Given the description of an element on the screen output the (x, y) to click on. 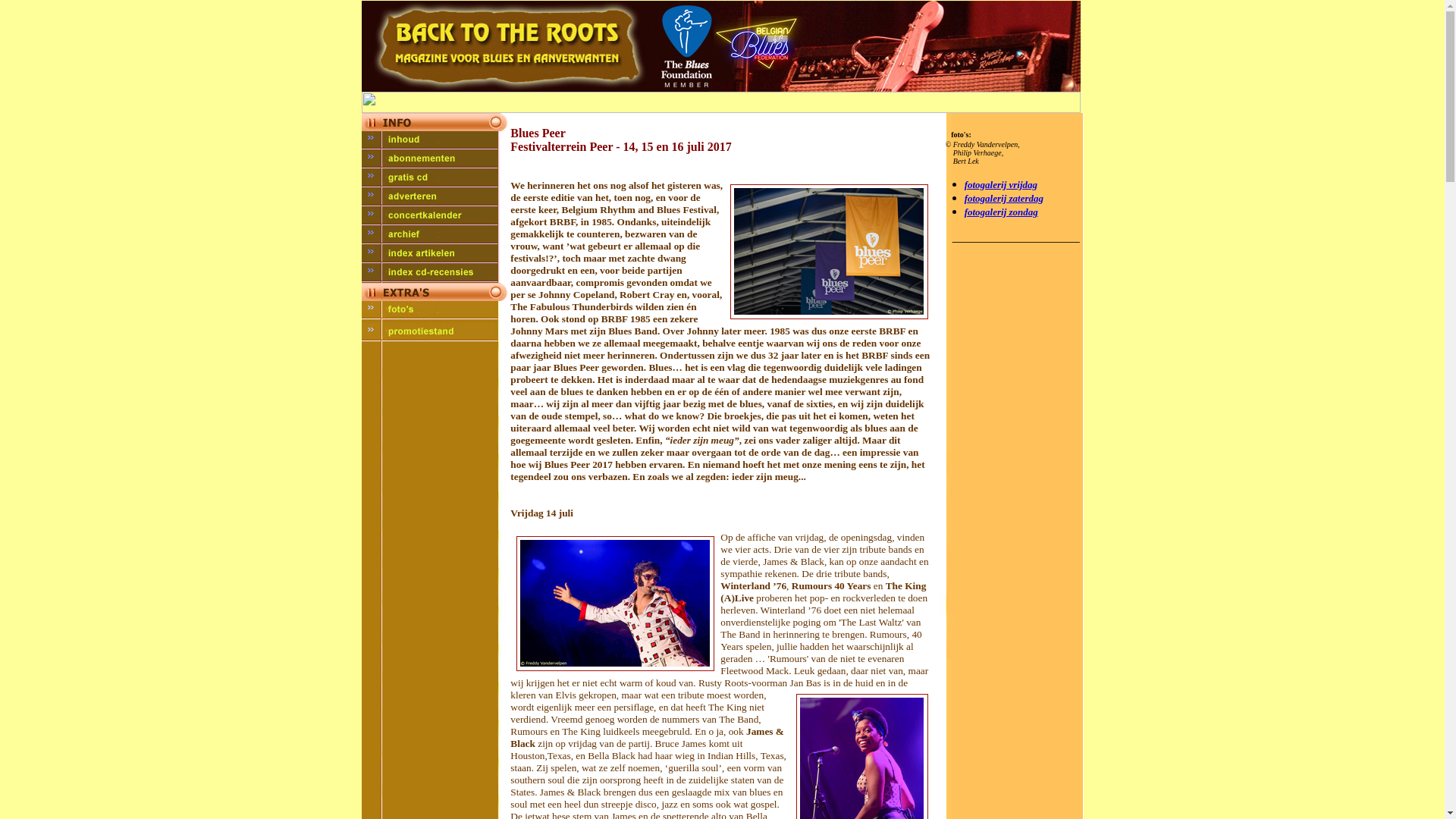
fotogalerij vrijdag Element type: text (1000, 183)
fotogalerij zaterdag Element type: text (1003, 197)
fotogalerij zondag Element type: text (1001, 211)
